Given the description of an element on the screen output the (x, y) to click on. 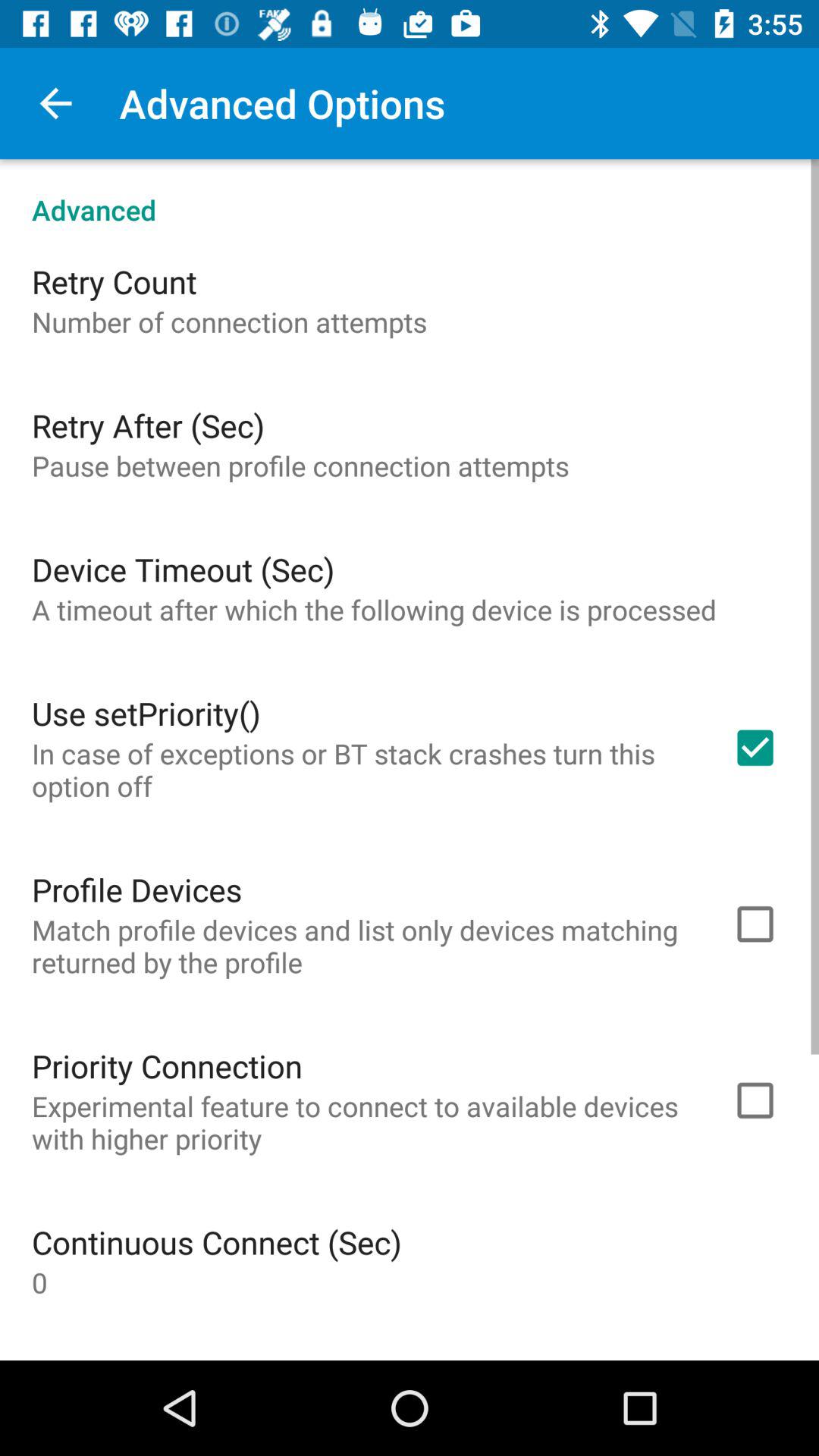
launch the item above continuous connect (sec) (361, 1122)
